Given the description of an element on the screen output the (x, y) to click on. 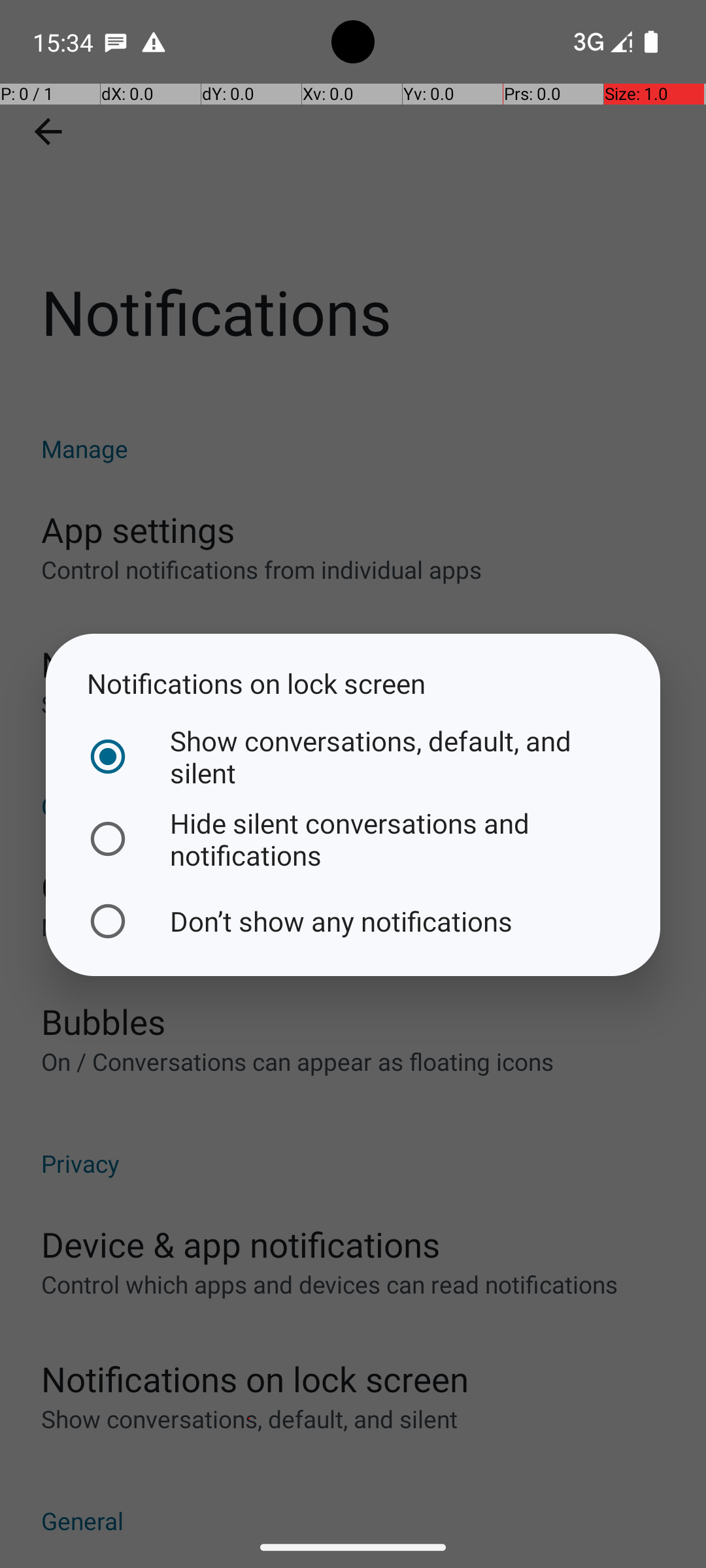
Show conversations, default, and silent Element type: android.widget.CheckedTextView (349, 756)
Hide silent conversations and notifications Element type: android.widget.CheckedTextView (349, 838)
Don’t show any notifications Element type: android.widget.CheckedTextView (349, 920)
